Given the description of an element on the screen output the (x, y) to click on. 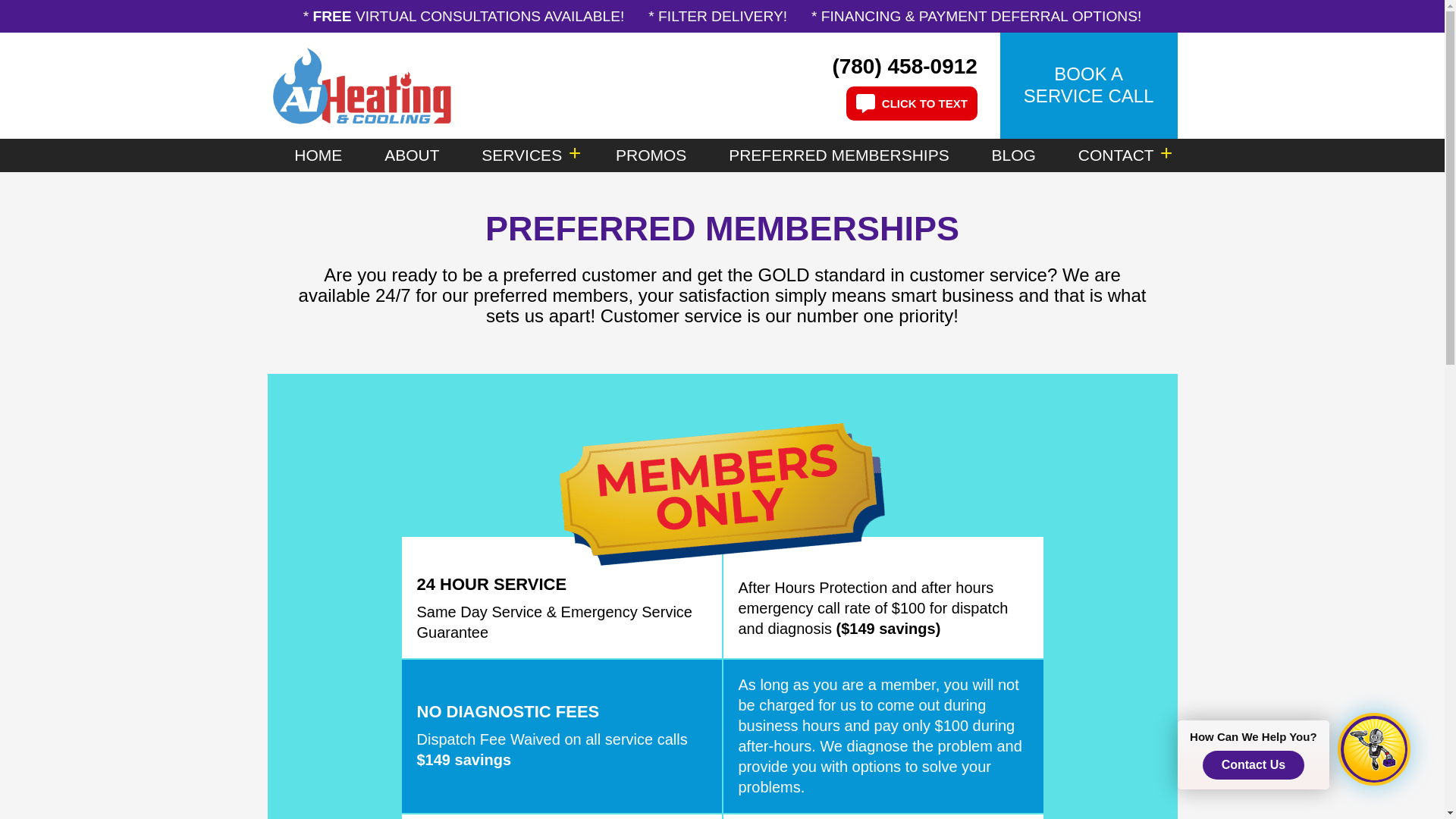
PREFERRED MEMBERSHIPS Element type: text (838, 154)
(780) 458-0912 Element type: text (915, 65)
CLICK TO TEXT Element type: text (911, 103)
How Can We Help You?
Contact Us Element type: text (1371, 749)
BOOK A
SERVICE CALL Element type: text (1088, 85)
CONTACT Element type: text (1116, 154)
PROMOS Element type: text (650, 154)
BLOG Element type: text (1013, 154)
HOME Element type: text (318, 154)
ABOUT Element type: text (411, 154)
SERVICES Element type: text (521, 154)
